Given the description of an element on the screen output the (x, y) to click on. 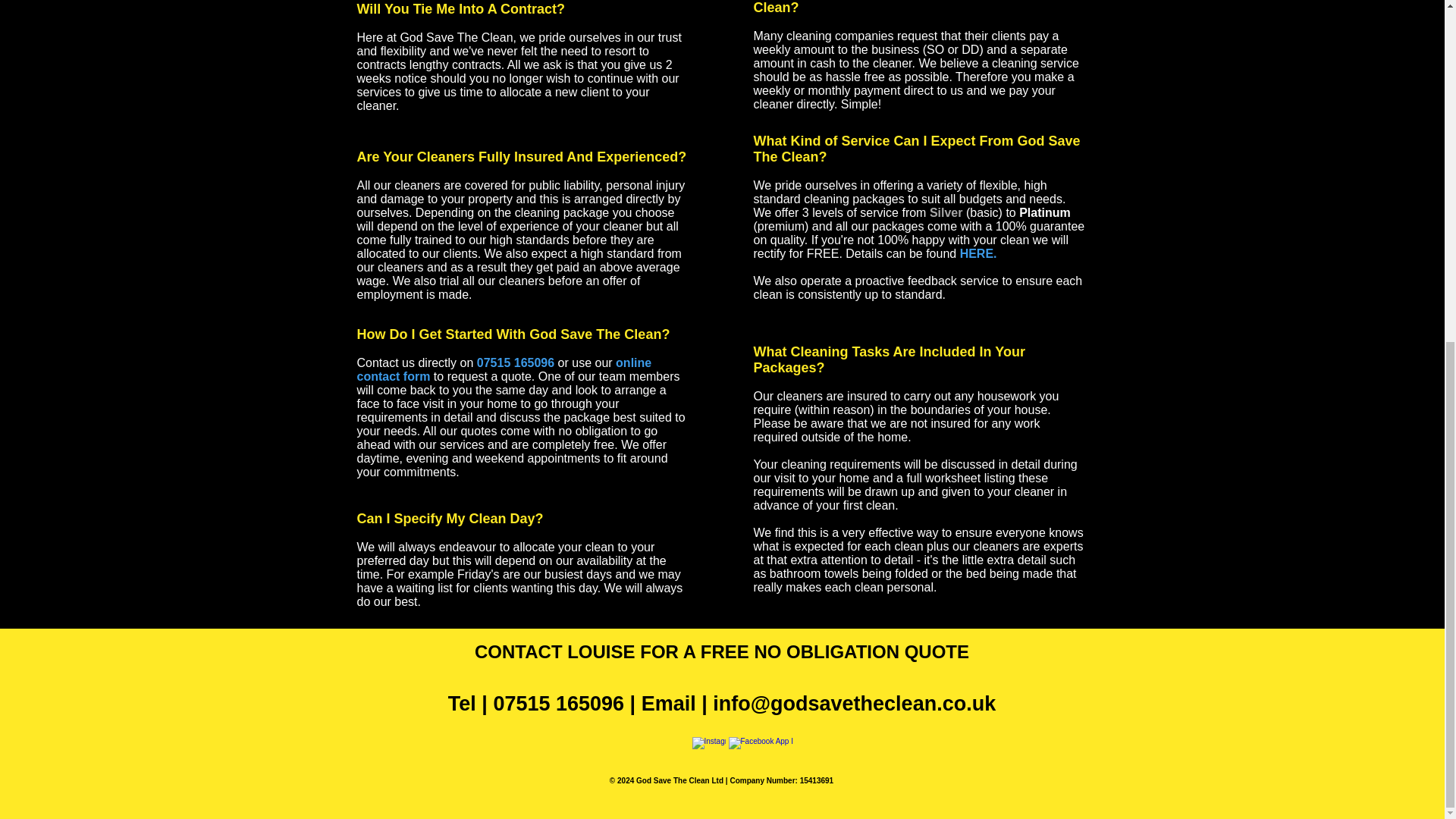
HERE. (978, 253)
07515 165096  (517, 362)
07515 165096 (558, 703)
online contact form (503, 369)
